Given the description of an element on the screen output the (x, y) to click on. 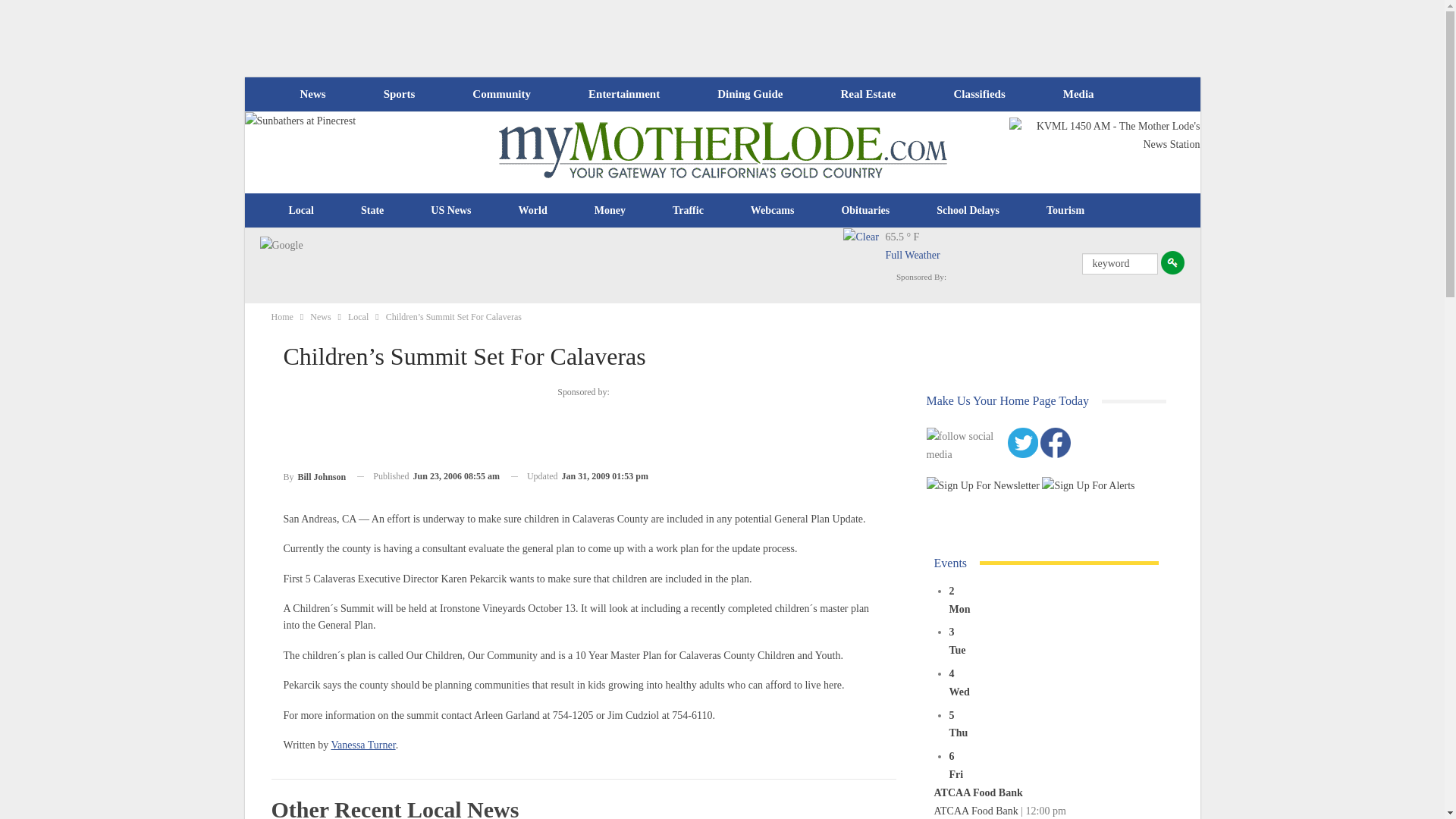
Tourism (1065, 210)
Traffic (687, 210)
Sports (399, 93)
Obituaries (865, 210)
Browse Author Articles (314, 476)
Clear (864, 249)
School Delays (967, 210)
